Given the description of an element on the screen output the (x, y) to click on. 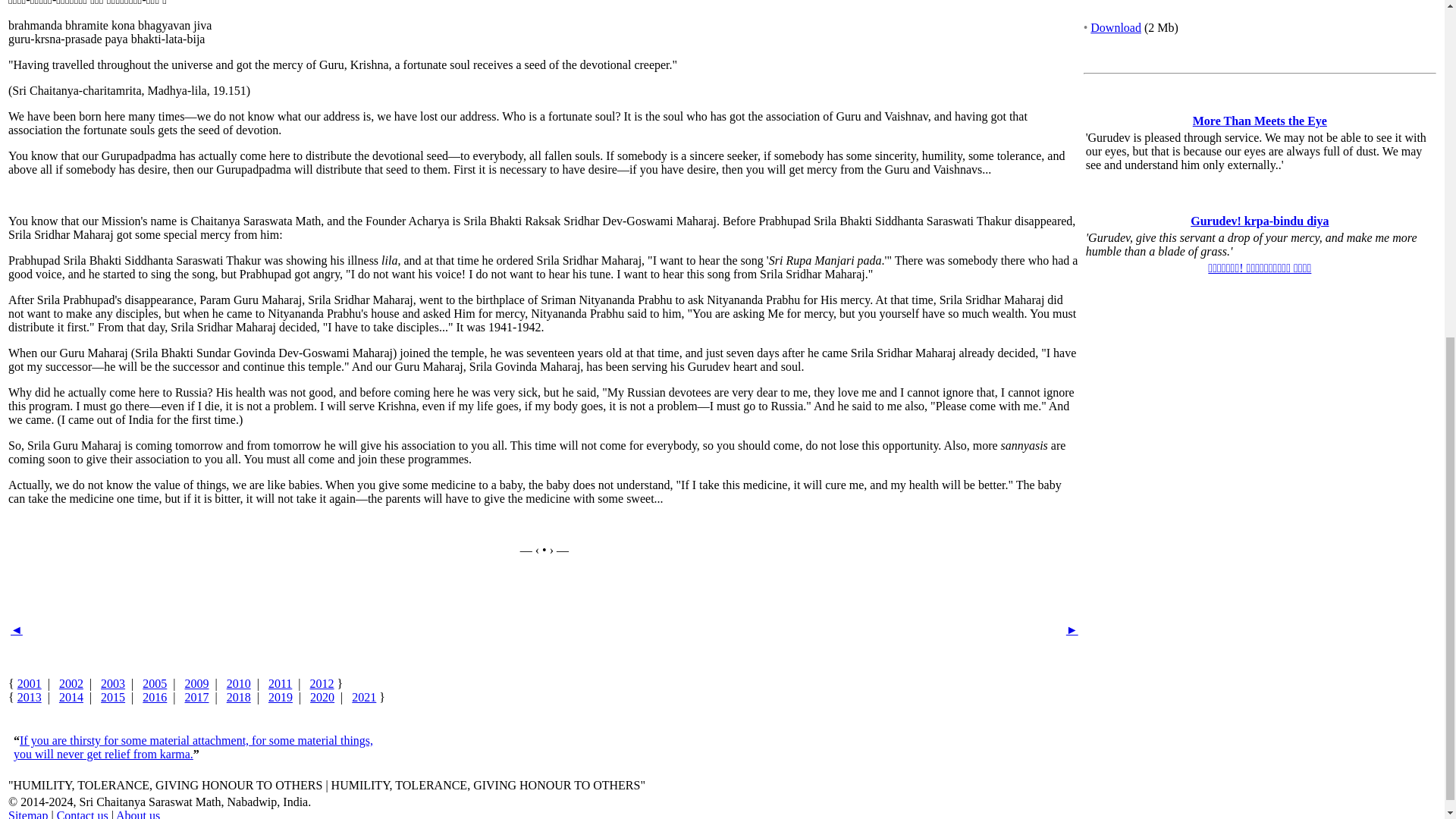
2002 (70, 683)
2014 (70, 697)
2017 (196, 697)
2016 (154, 697)
2005 (154, 683)
2019 (279, 697)
2009 (196, 683)
2018 (238, 697)
2015 (112, 697)
Download (1115, 27)
2013 (29, 697)
2011 (279, 683)
2001 (29, 683)
More Than Meets the Eye (1259, 120)
